Given the description of an element on the screen output the (x, y) to click on. 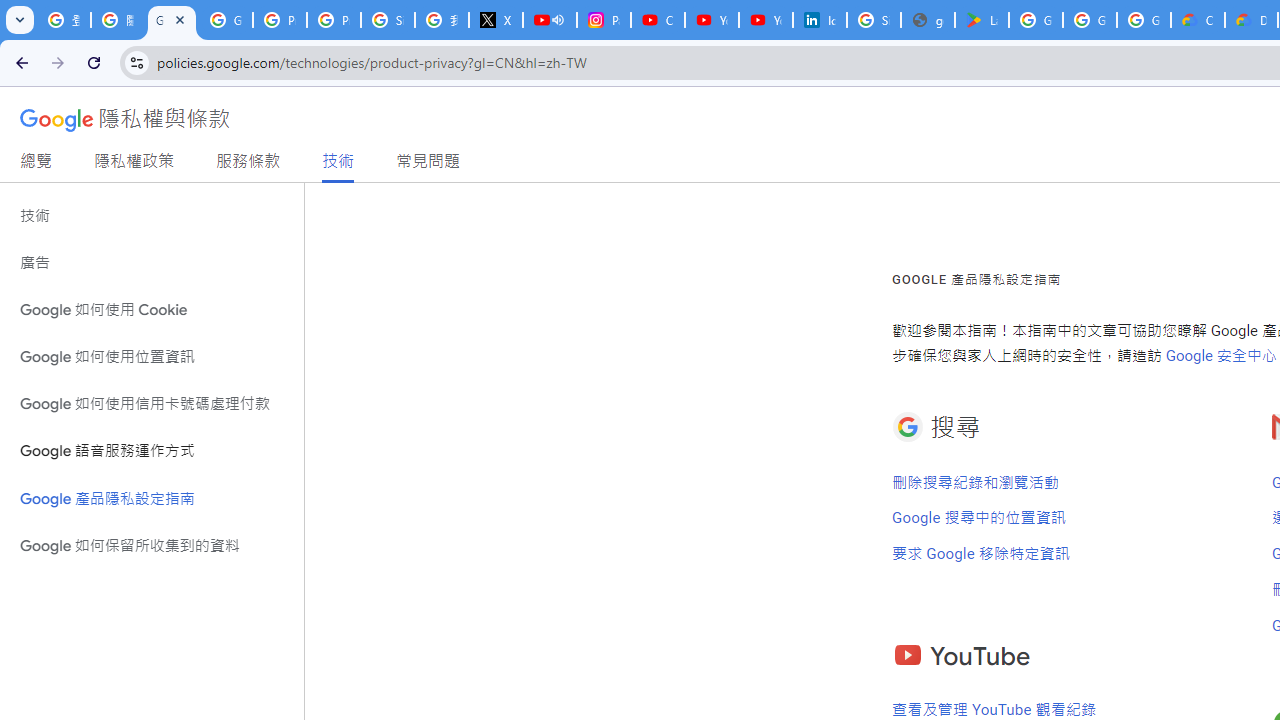
Privacy Help Center - Policies Help (280, 20)
Last Shelter: Survival - Apps on Google Play (981, 20)
